Given the description of an element on the screen output the (x, y) to click on. 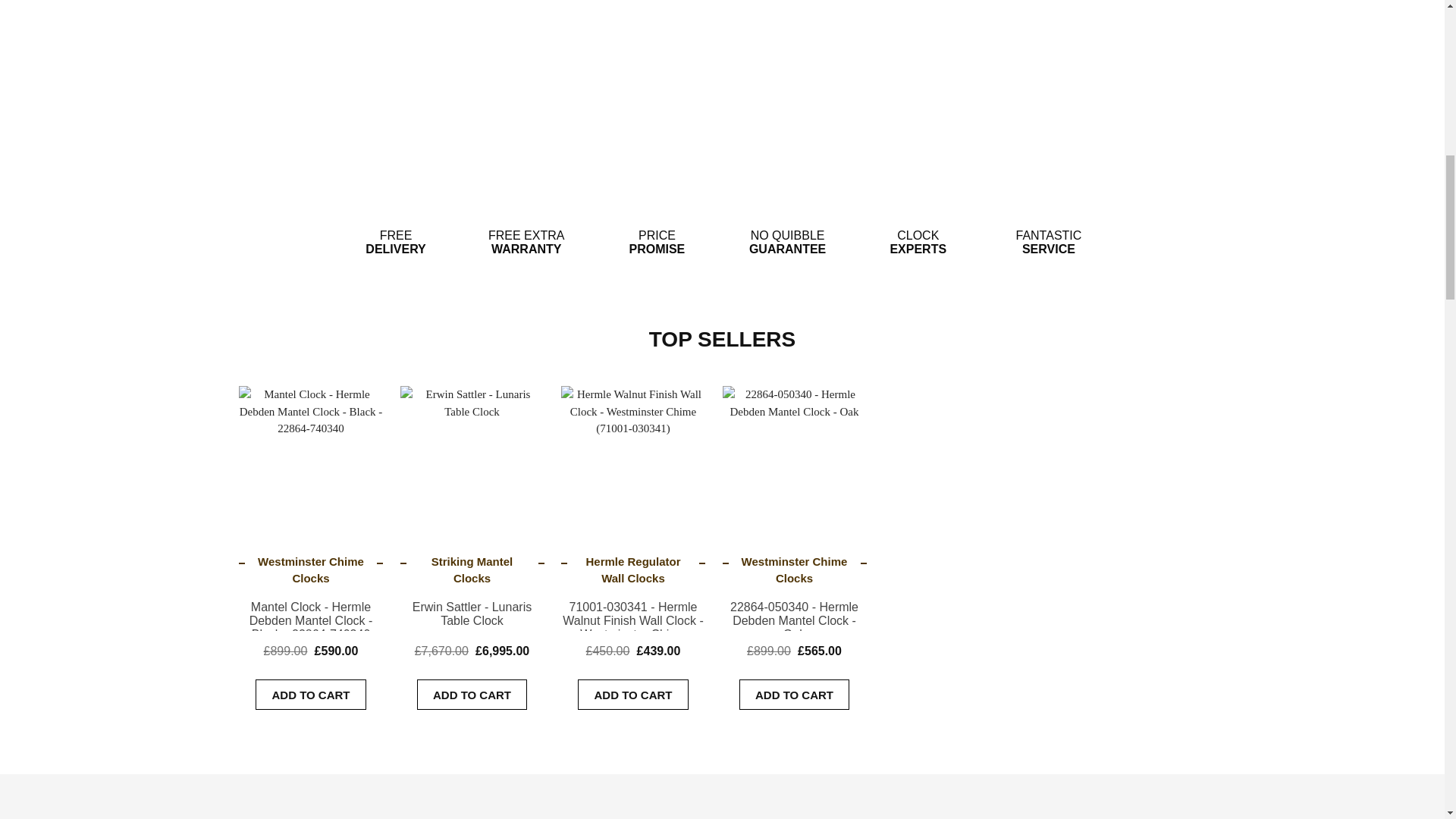
Erwin Sattler - Lunaris Table Clock (472, 451)
22864-050340 - Hermle Debden Mantel Clock - Oak (794, 451)
